Given the description of an element on the screen output the (x, y) to click on. 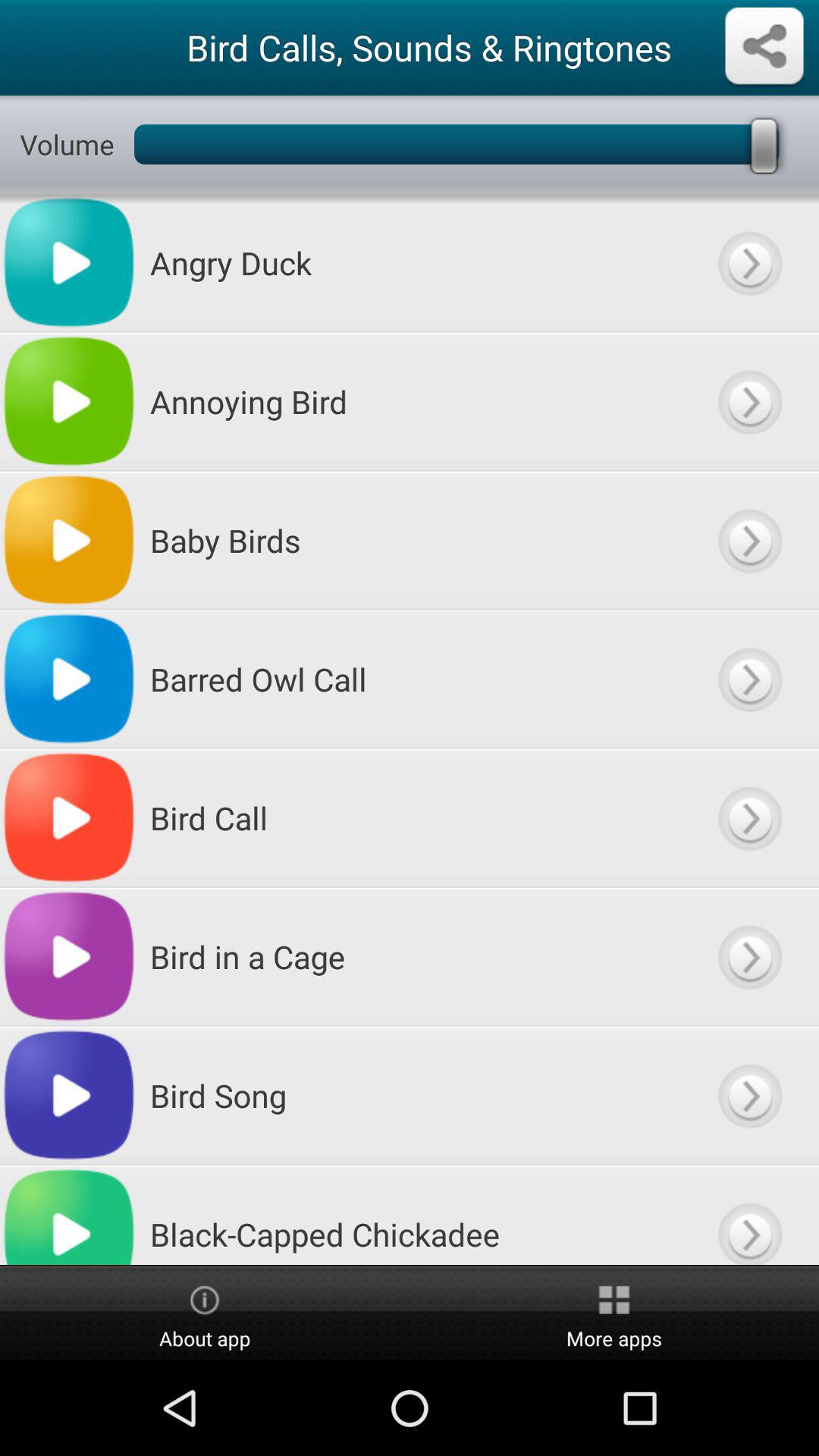
go to next (749, 262)
